Given the description of an element on the screen output the (x, y) to click on. 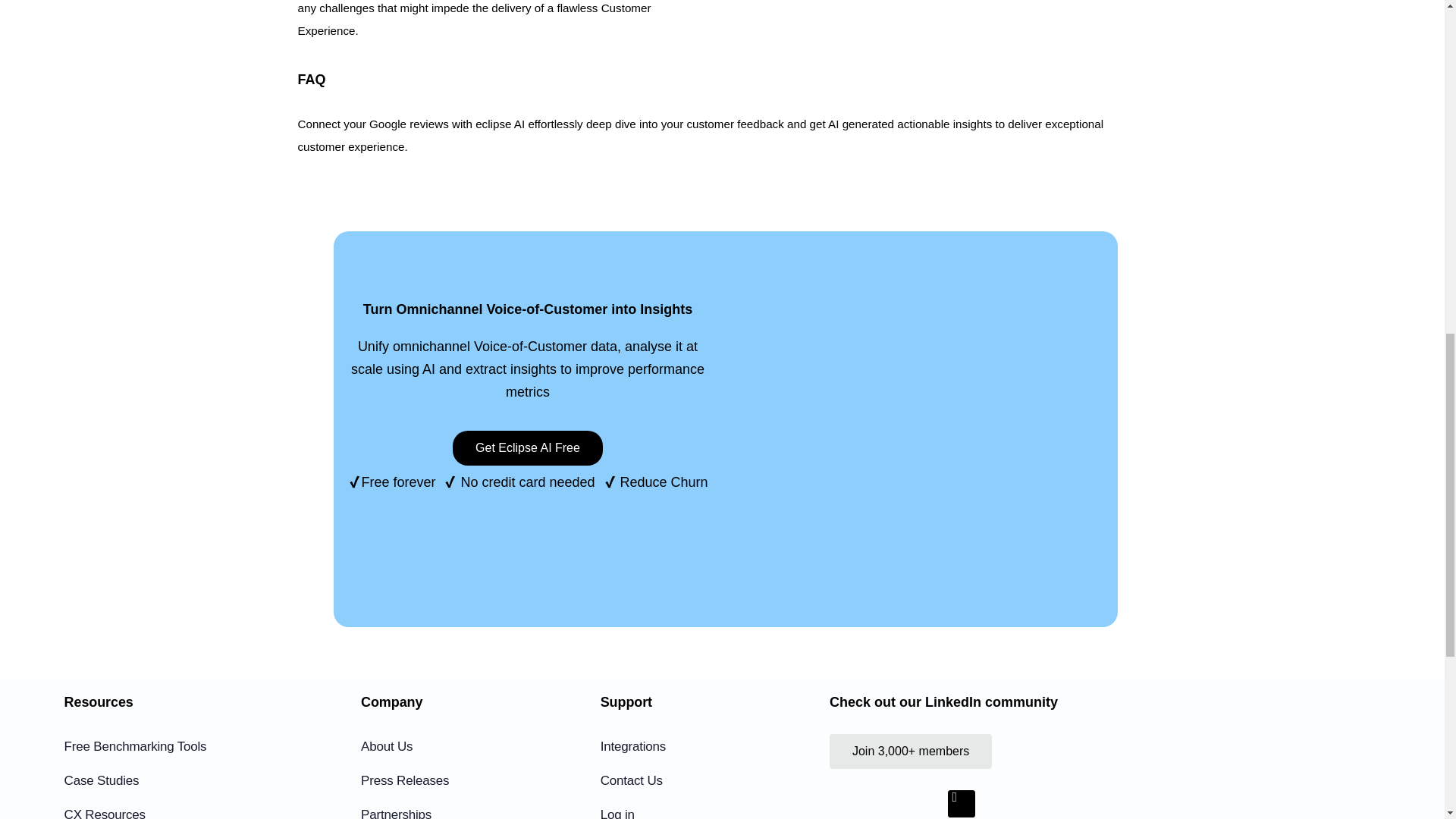
Get Eclipse AI Free (527, 448)
Press Releases (476, 780)
CX Resources (191, 811)
About Us (476, 746)
Case Studies (191, 780)
Free Benchmarking Tools (191, 746)
